Given the description of an element on the screen output the (x, y) to click on. 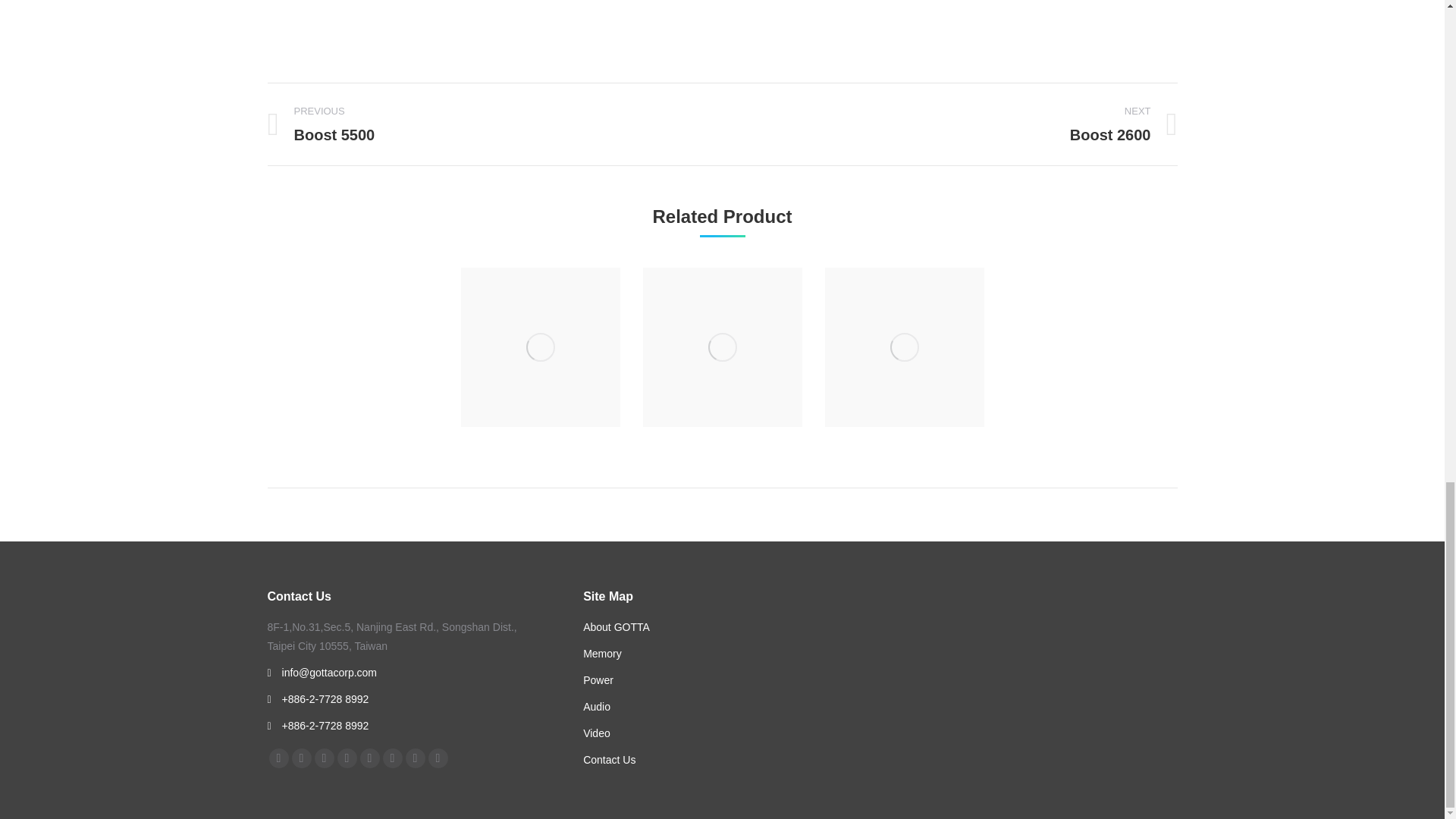
Facebook (277, 758)
Mail (437, 758)
Mail (437, 758)
Facebook (277, 758)
Instagram (414, 758)
Power (482, 124)
cable-1 (597, 680)
Memory (540, 346)
Linkedin (602, 653)
